Given the description of an element on the screen output the (x, y) to click on. 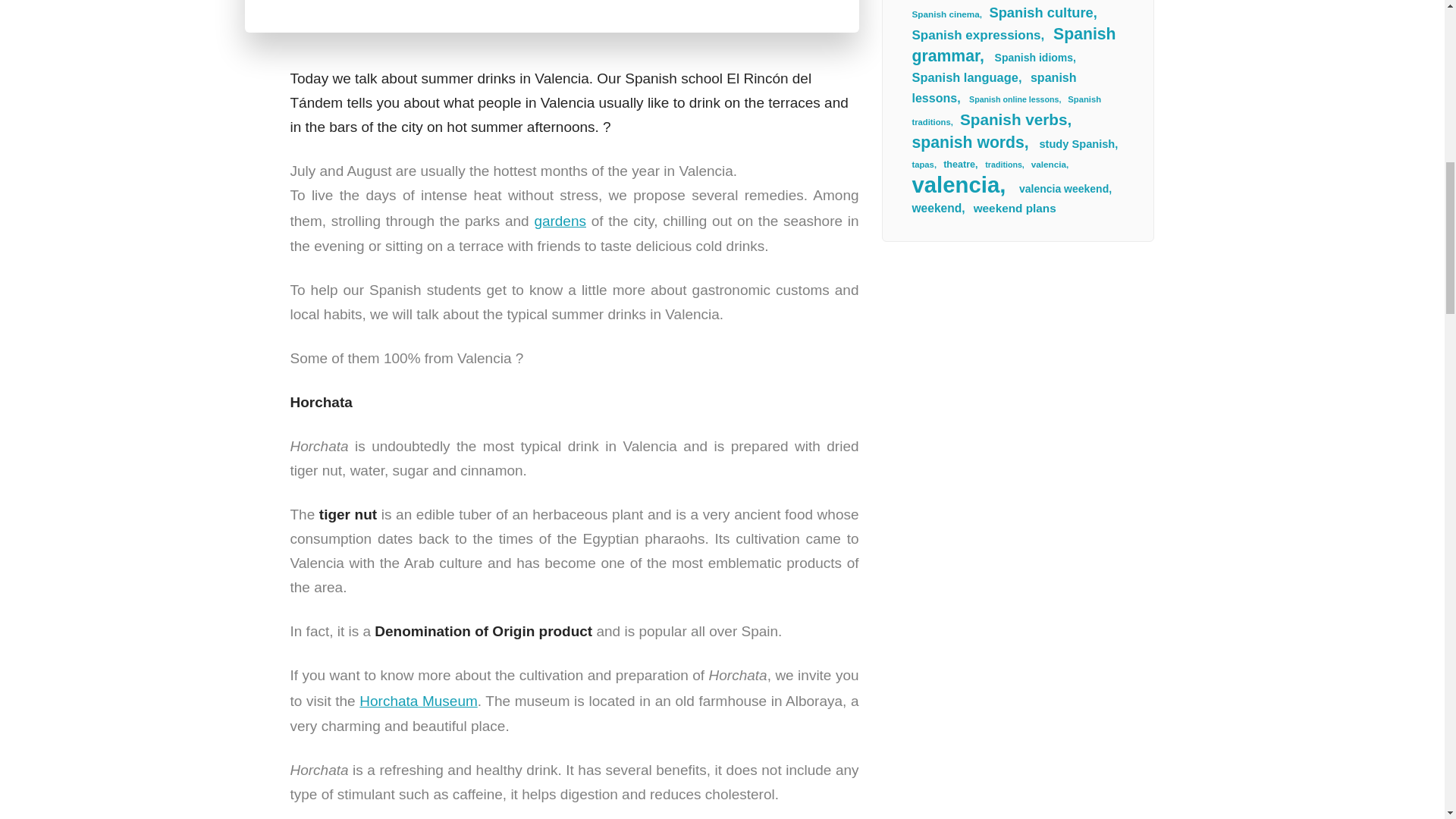
gardens (560, 220)
Horchata Museum (418, 700)
